Given the description of an element on the screen output the (x, y) to click on. 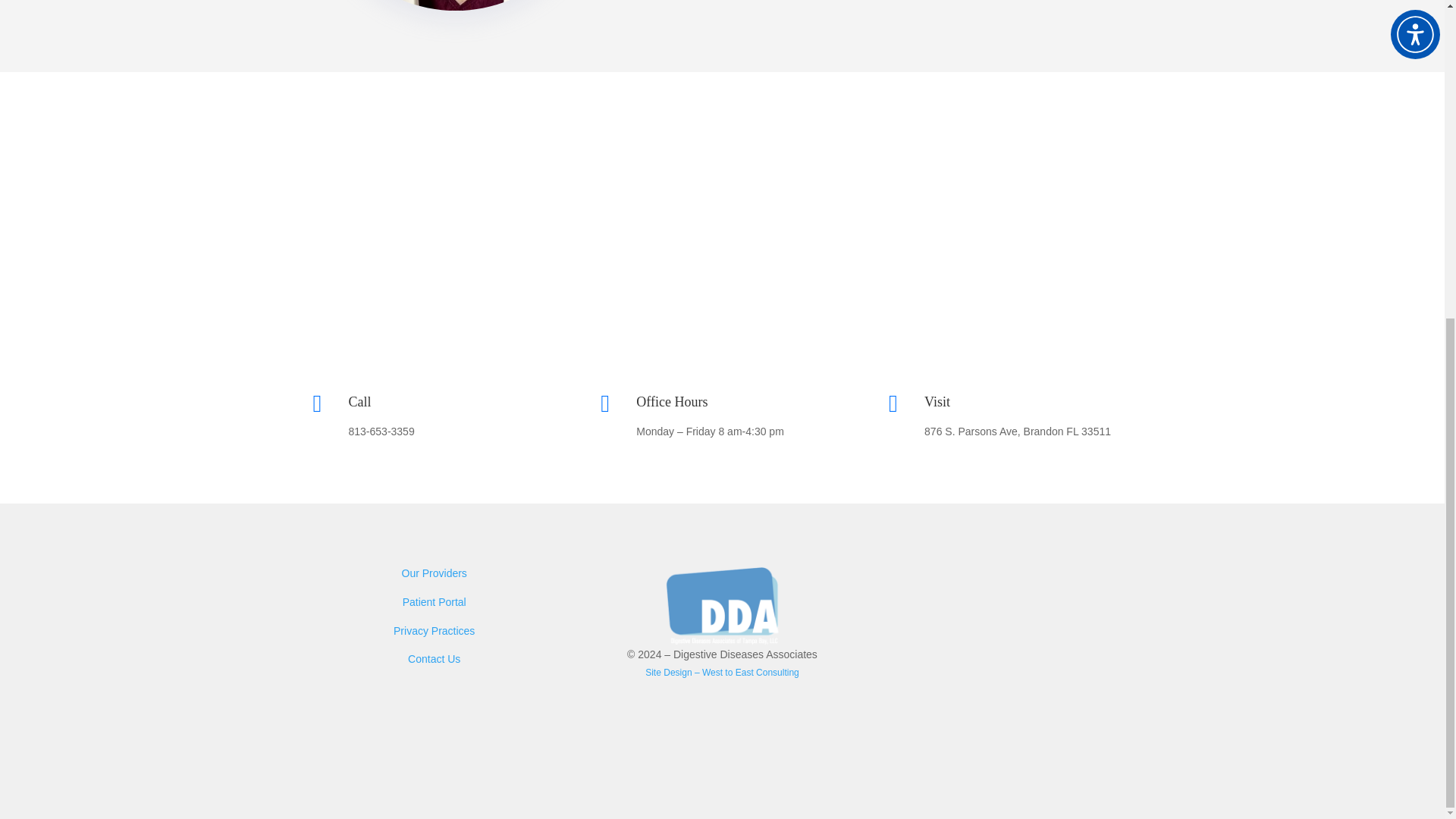
Contact Us (433, 658)
JennyCrnkovich (455, 5)
Site Design - West to East Consulting (722, 672)
Our Privacy Practices (433, 630)
logo (722, 605)
Our Providers (434, 573)
Patient Portal (434, 602)
